Given the description of an element on the screen output the (x, y) to click on. 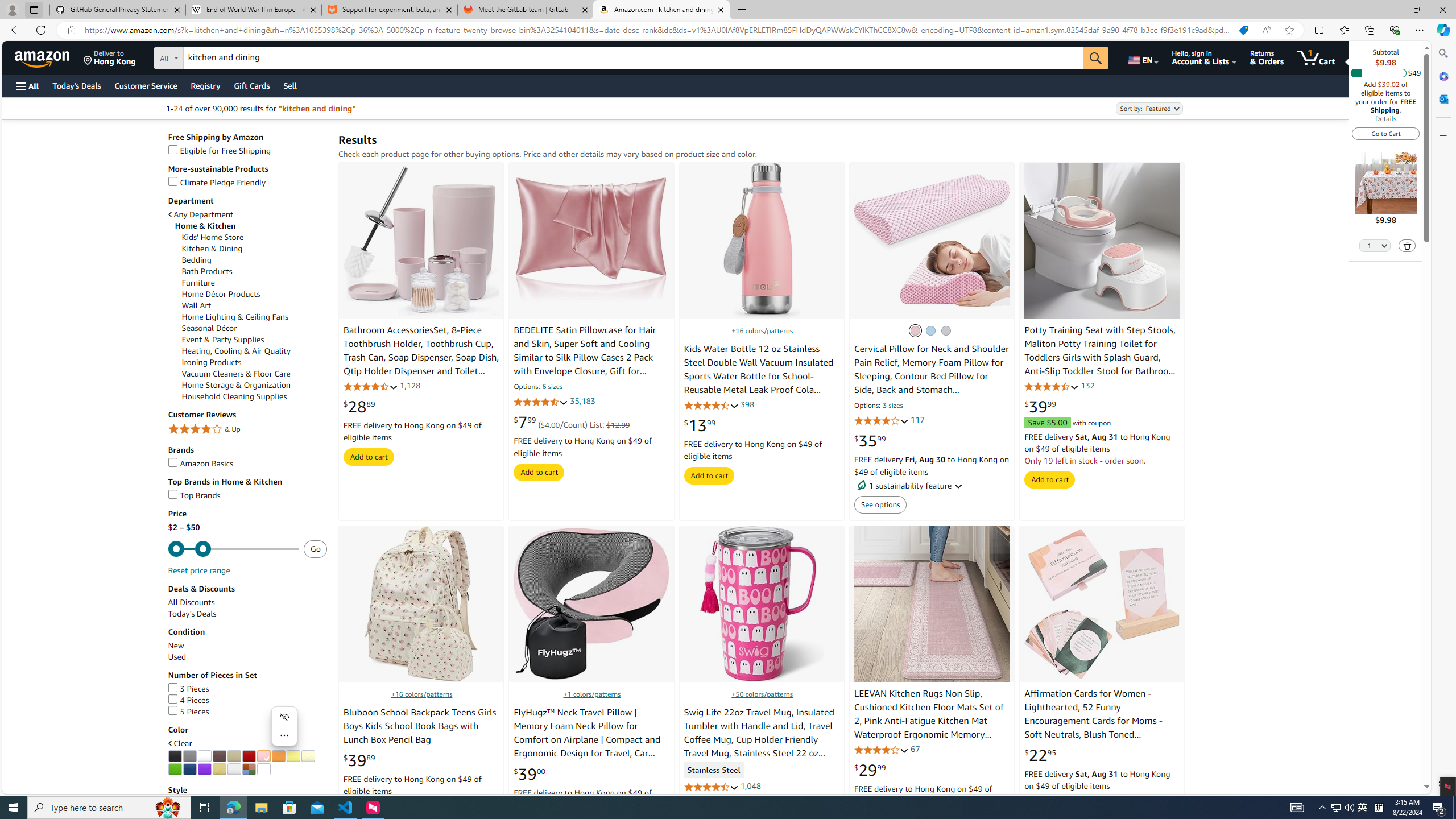
3 Pieces (247, 688)
4.2 out of 5 stars (880, 421)
4.6 out of 5 stars (1051, 386)
Search in (210, 56)
$22.95 (1040, 755)
4 Stars & Up (247, 429)
Event & Party Supplies (223, 339)
Kids' Home Store (254, 237)
Home & Kitchen (250, 225)
$35.99 (869, 440)
4 Pieces (247, 700)
